Given the description of an element on the screen output the (x, y) to click on. 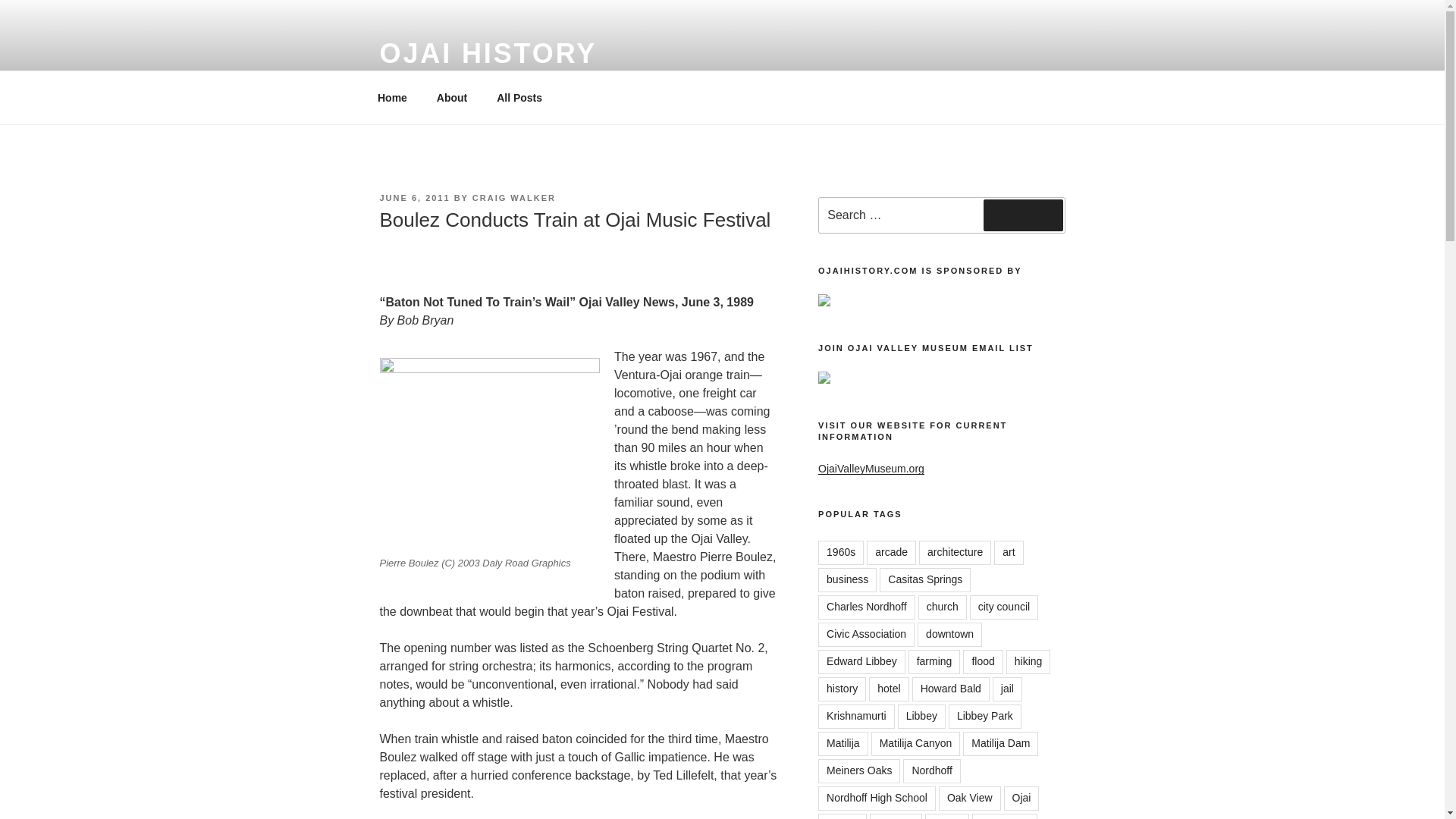
About (451, 97)
architecture (954, 551)
farming (934, 661)
JUNE 6, 2011 (413, 197)
church (942, 606)
downtown (949, 633)
Civic Association (866, 633)
business (847, 579)
OjaiValleyMuseum.org (871, 468)
Casitas Springs (925, 579)
